Given the description of an element on the screen output the (x, y) to click on. 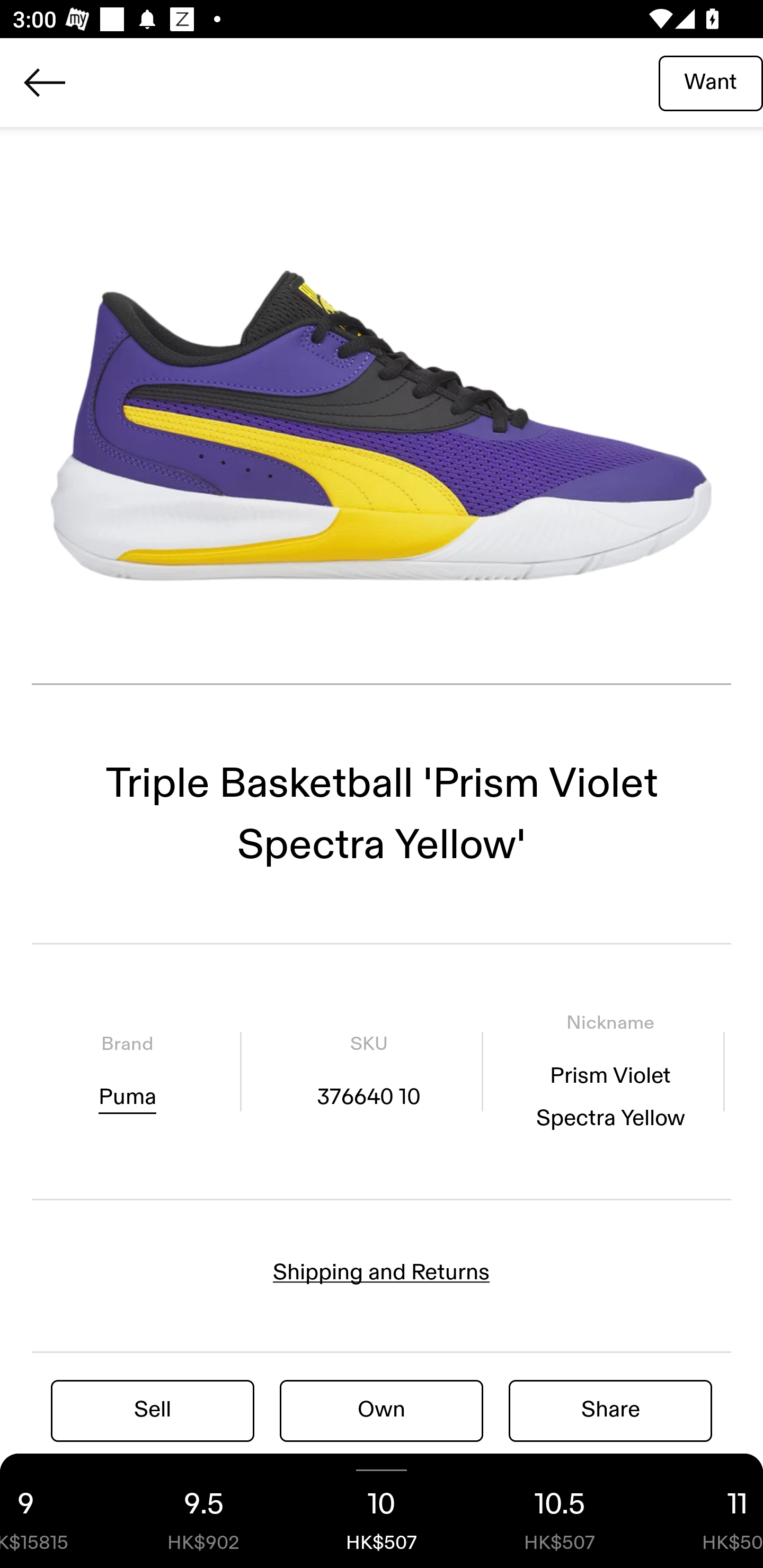
Want (710, 82)
Brand Puma (126, 1070)
SKU 376640 10 (368, 1070)
Nickname Prism Violet Spectra Yellow (609, 1070)
Shipping and Returns (381, 1272)
Sell (152, 1410)
Own (381, 1410)
Share (609, 1410)
9 HK$15815 (57, 1510)
9.5 HK$902 (203, 1510)
10 HK$507 (381, 1510)
10.5 HK$507 (559, 1510)
11 HK$507 (705, 1510)
